Given the description of an element on the screen output the (x, y) to click on. 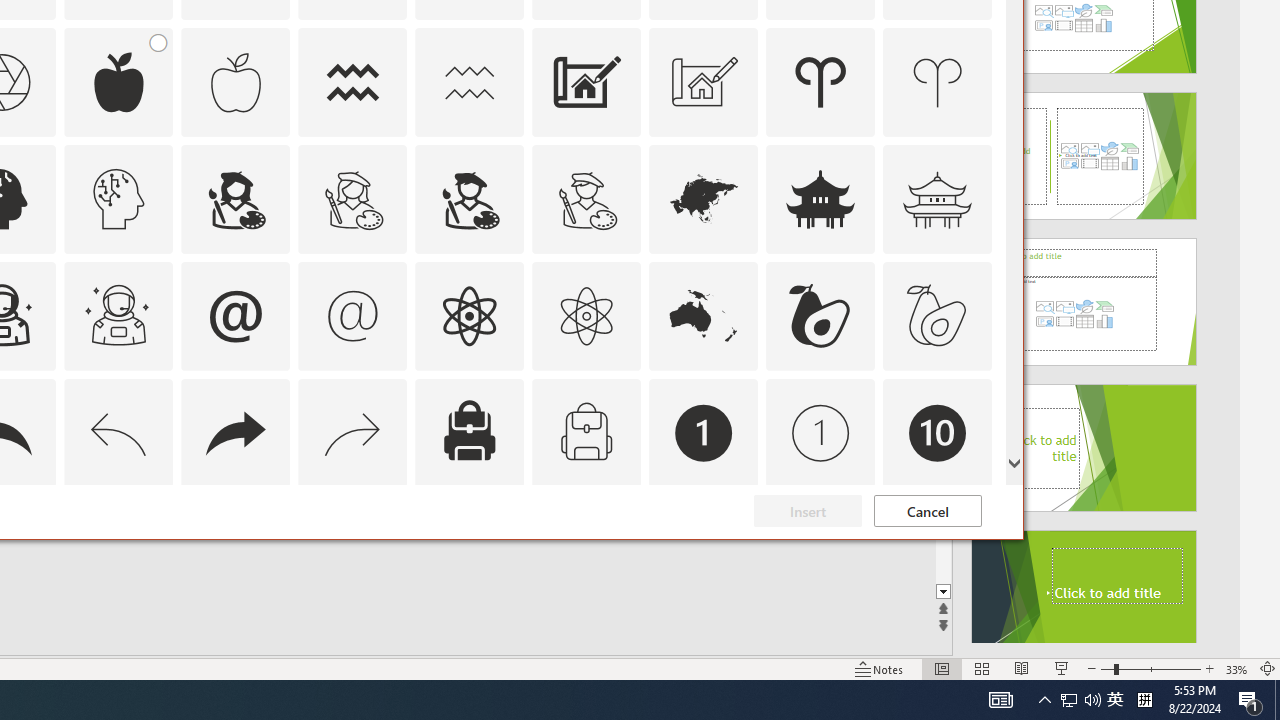
AutomationID: Icons_ArtistMale_M (586, 198)
AutomationID: Icons_Badge7 (353, 550)
AutomationID: Icons_Asia (703, 198)
AutomationID: Icons_Australia (703, 316)
AutomationID: Icons_Badge10 (938, 432)
AutomationID: Icons_Apple (118, 82)
AutomationID: Icons_Badge6_M (235, 550)
AutomationID: Icons_Badge8 (586, 550)
